Given the description of an element on the screen output the (x, y) to click on. 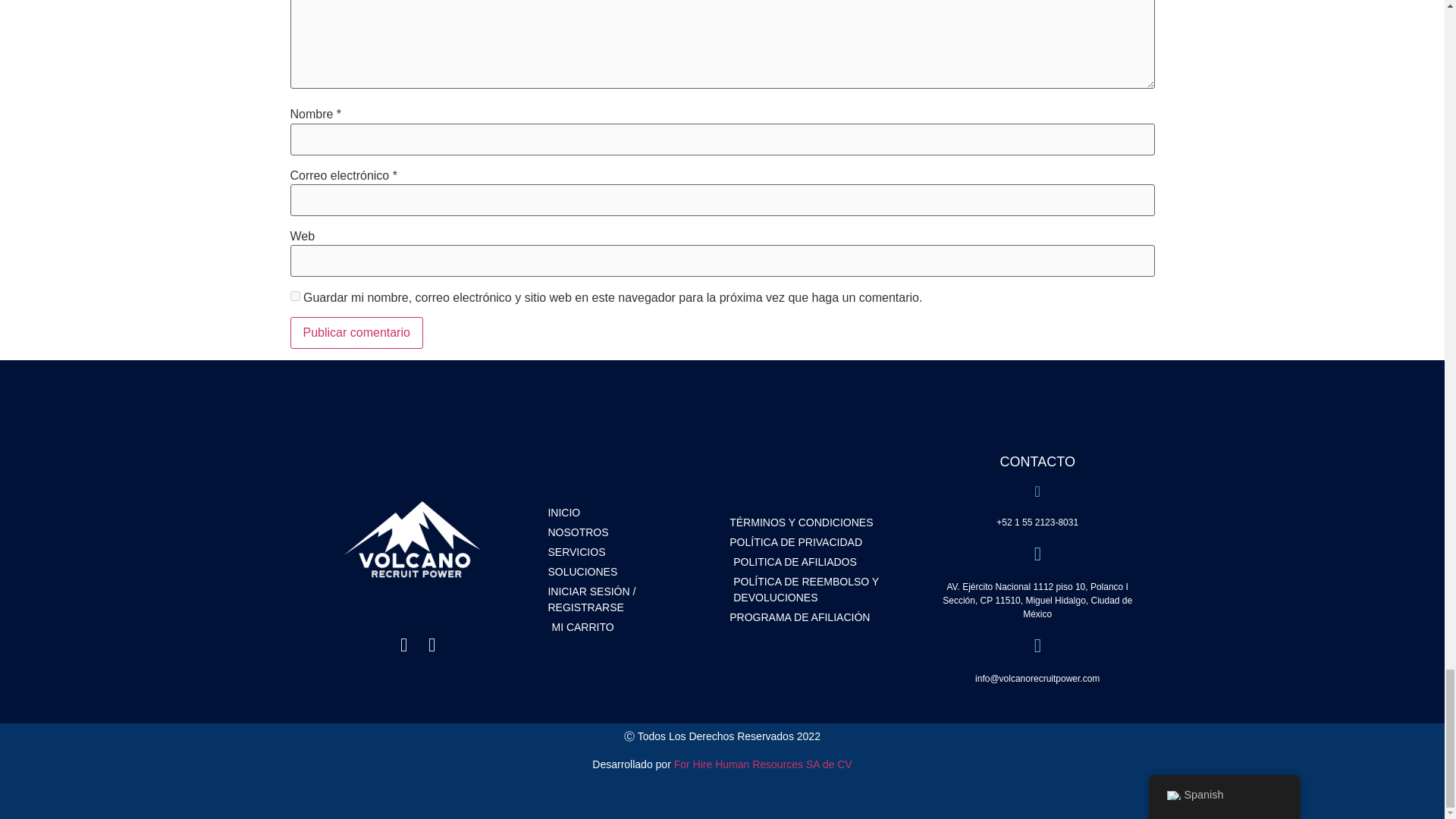
INICIO (630, 512)
yes (294, 296)
MI CARRITO (630, 627)
NOSOTROS (630, 532)
For Hire Human Resources SA de CV (762, 764)
Publicar comentario (355, 332)
POLITICA DE AFILIADOS (820, 562)
SERVICIOS (630, 552)
SOLUCIONES (630, 571)
Publicar comentario (355, 332)
